Given the description of an element on the screen output the (x, y) to click on. 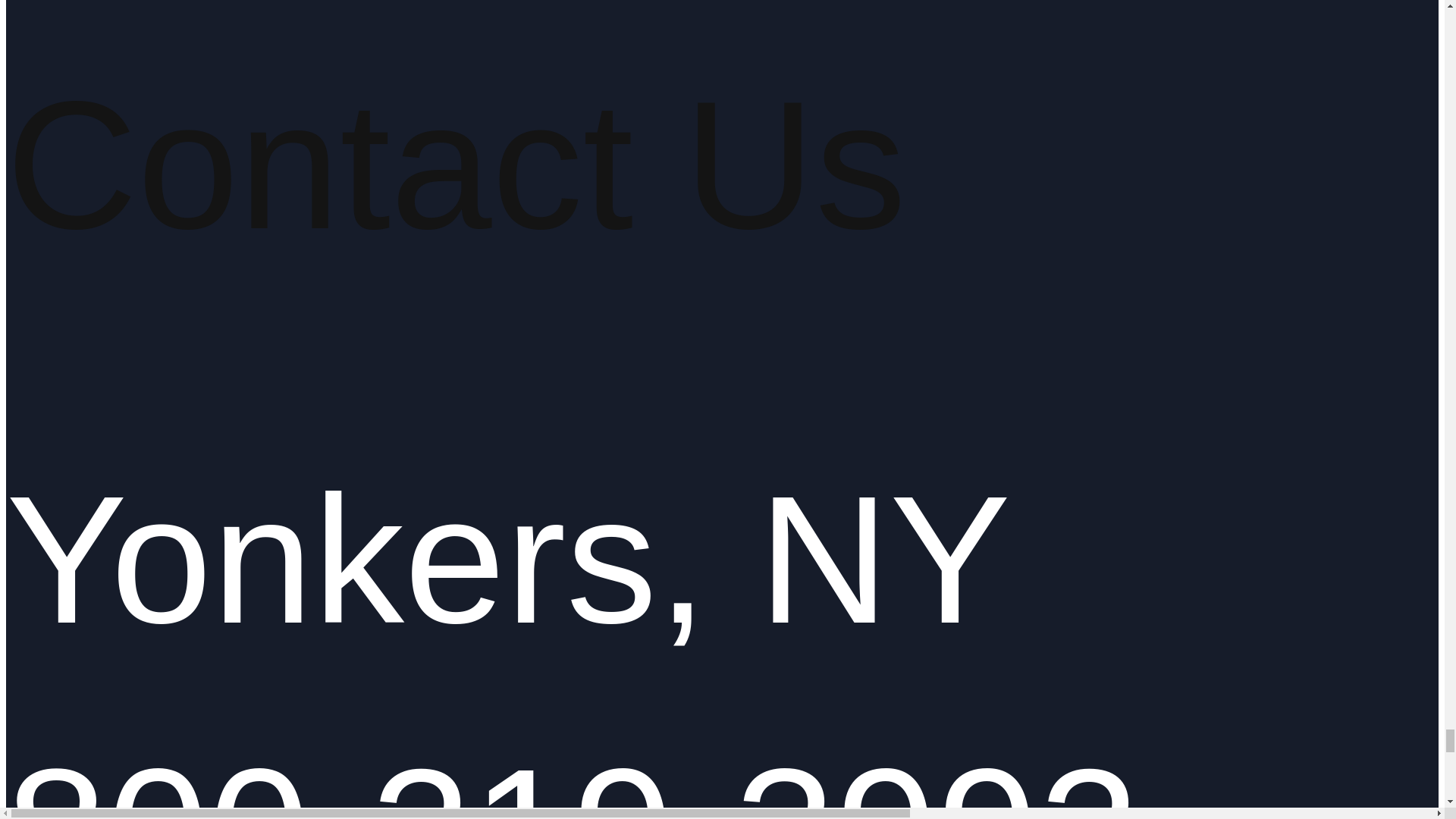
Portfolio (341, 6)
